Given the description of an element on the screen output the (x, y) to click on. 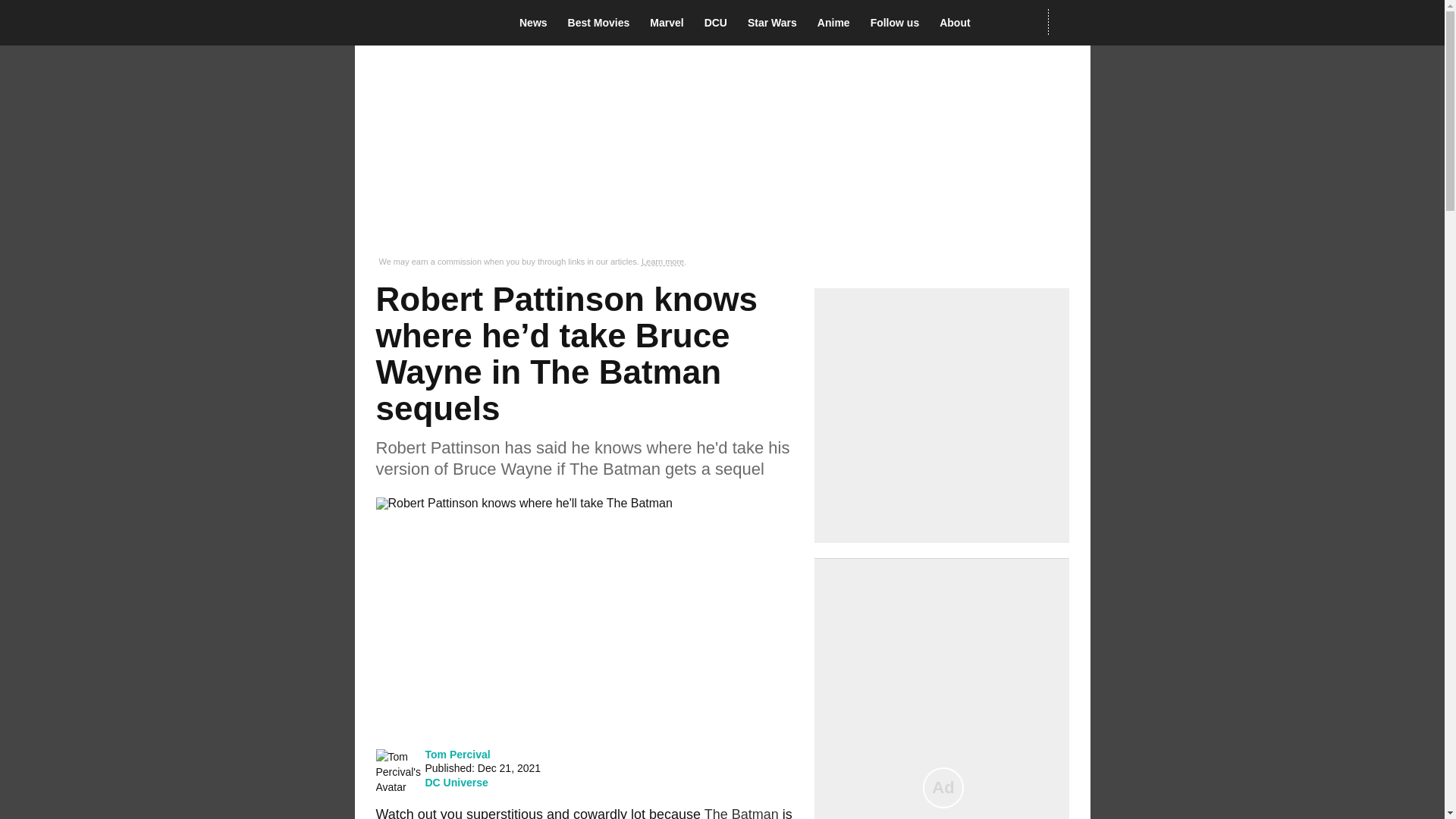
Anime News (837, 22)
Tom Percival (457, 754)
Best Movies (603, 22)
The Digital Fix (424, 22)
Learn more (663, 261)
Star Wars News (777, 22)
Network N Media (1068, 22)
DC Universe (456, 782)
Follow us (899, 22)
The Batman (741, 812)
Anime (837, 22)
Star Wars (777, 22)
Marvel Cinematic Universe News (671, 22)
Marvel (671, 22)
